Given the description of an element on the screen output the (x, y) to click on. 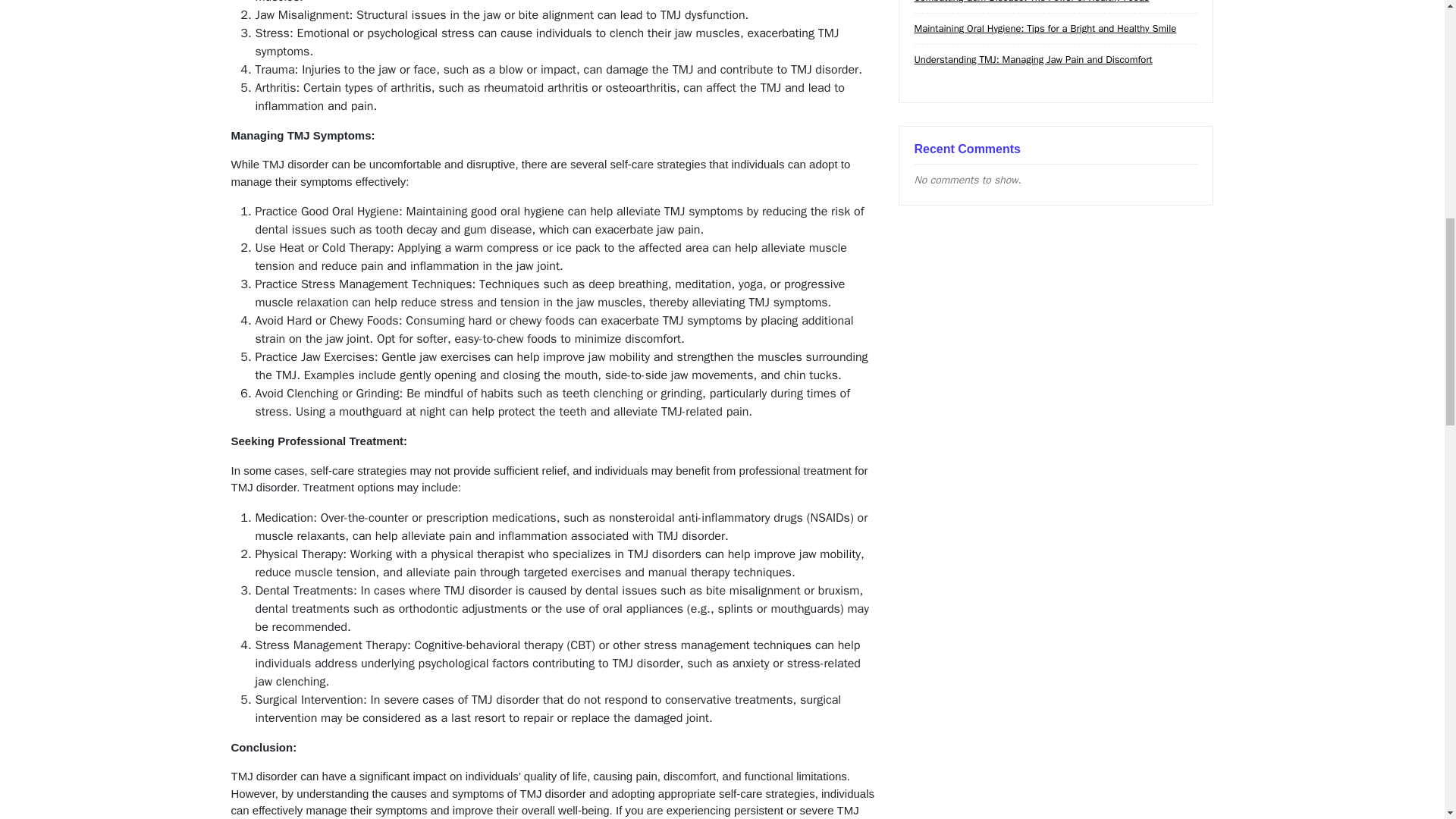
Understanding TMJ: Managing Jaw Pain and Discomfort (1033, 59)
Combatting Gum Disease: The Power of Healthy Foods (1032, 2)
